Given the description of an element on the screen output the (x, y) to click on. 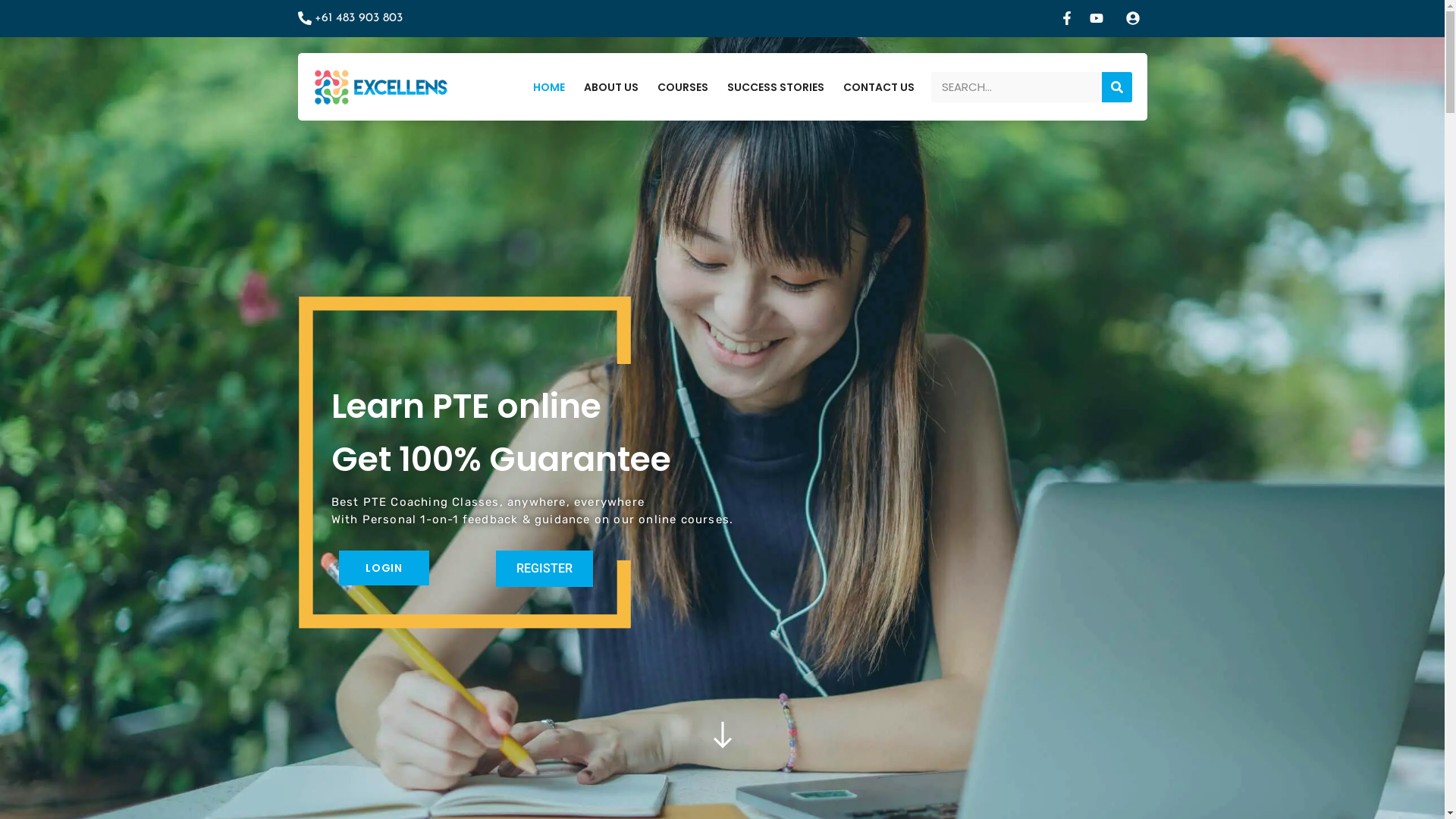
COURSES Element type: text (682, 86)
LOGIN Element type: text (383, 567)
SUCCESS STORIES Element type: text (775, 86)
Search Element type: hover (1016, 87)
CONTACT US Element type: text (878, 86)
Search Element type: hover (1116, 87)
HOME Element type: text (548, 86)
ABOUT US Element type: text (611, 86)
REGISTER Element type: text (544, 568)
